Given the description of an element on the screen output the (x, y) to click on. 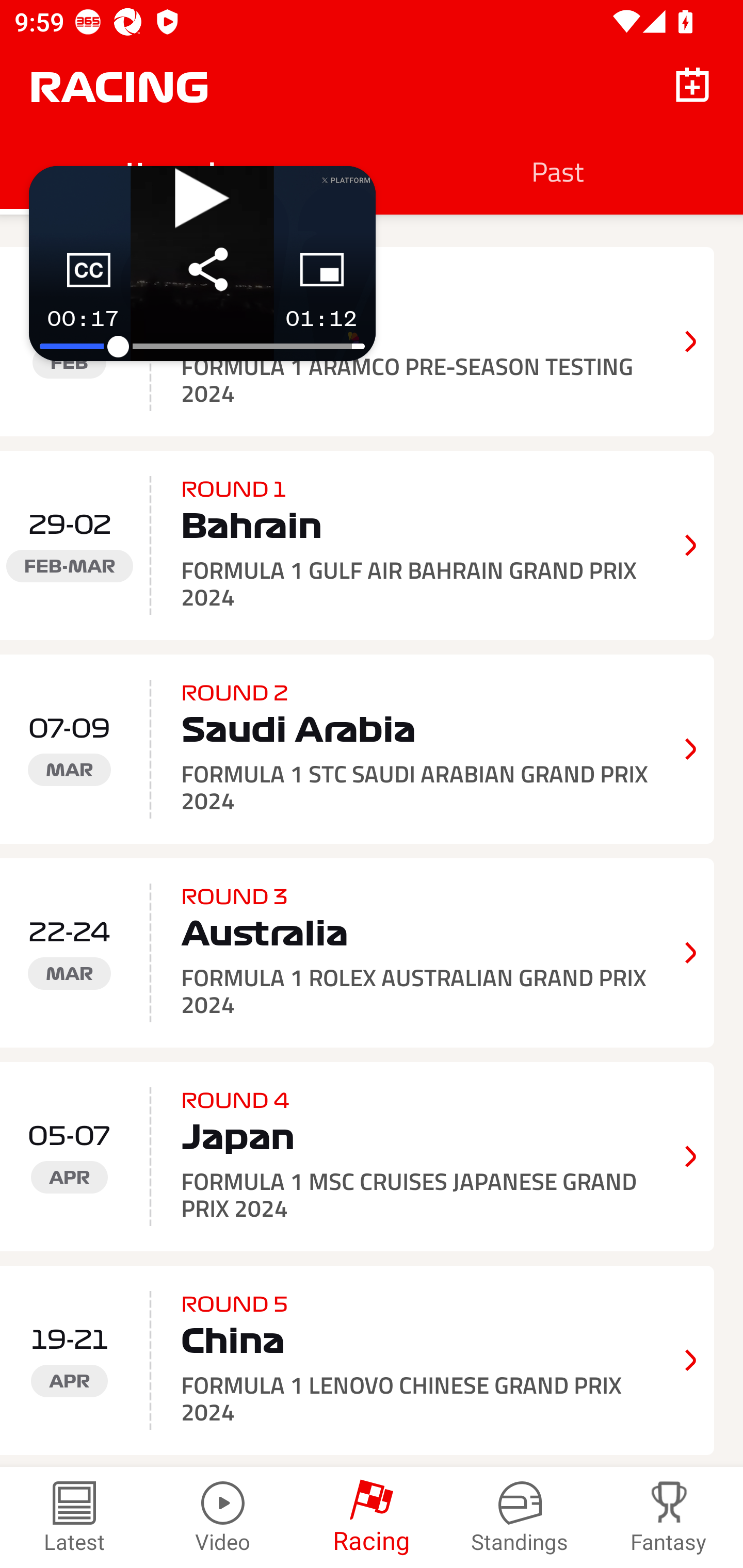
Past (557, 171)
Latest (74, 1517)
Video (222, 1517)
Standings (519, 1517)
Fantasy (668, 1517)
